Given the description of an element on the screen output the (x, y) to click on. 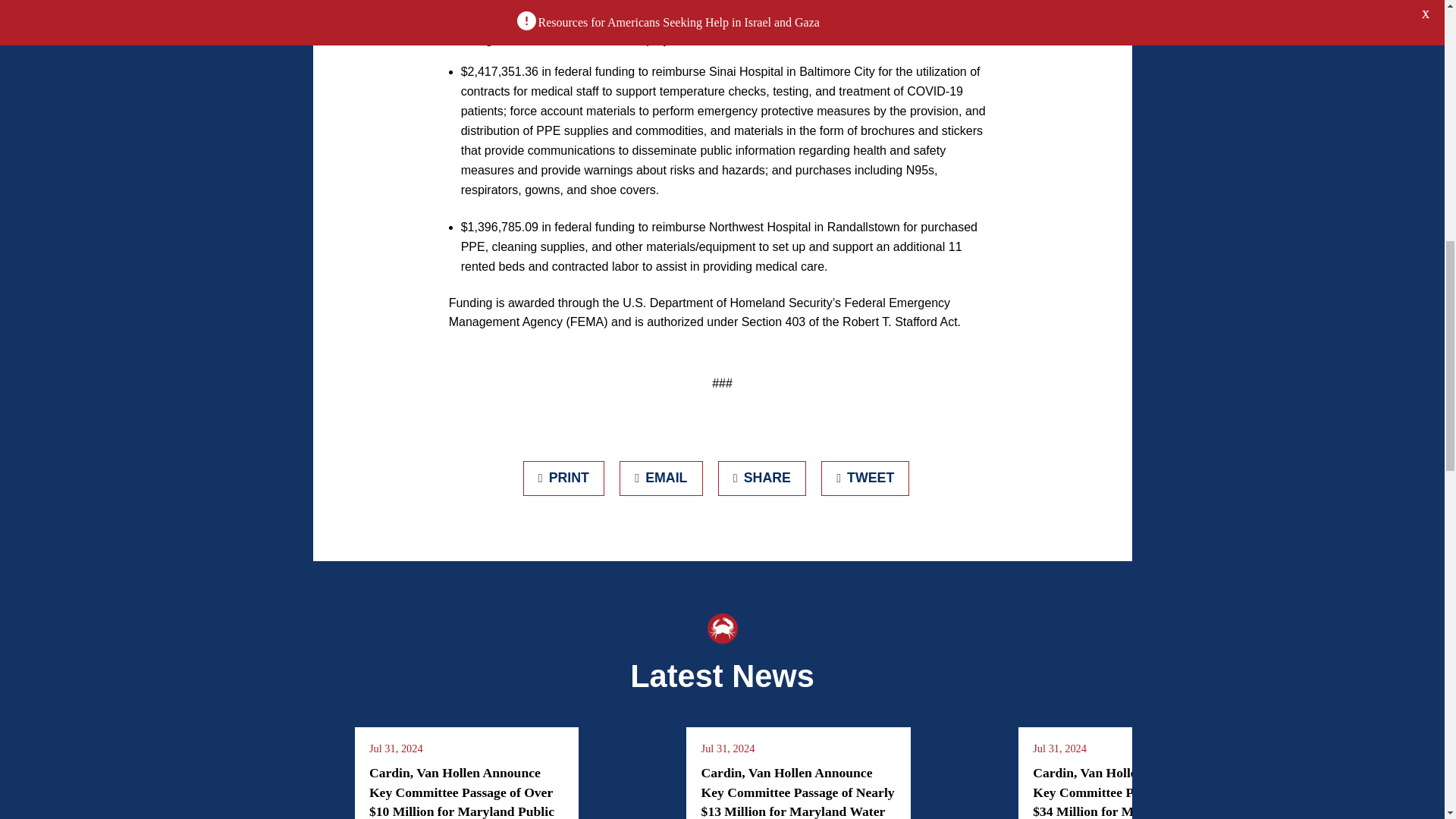
Crab (721, 628)
Print (563, 478)
Tweet (865, 478)
Share on Facebook (761, 478)
Email (661, 478)
